Given the description of an element on the screen output the (x, y) to click on. 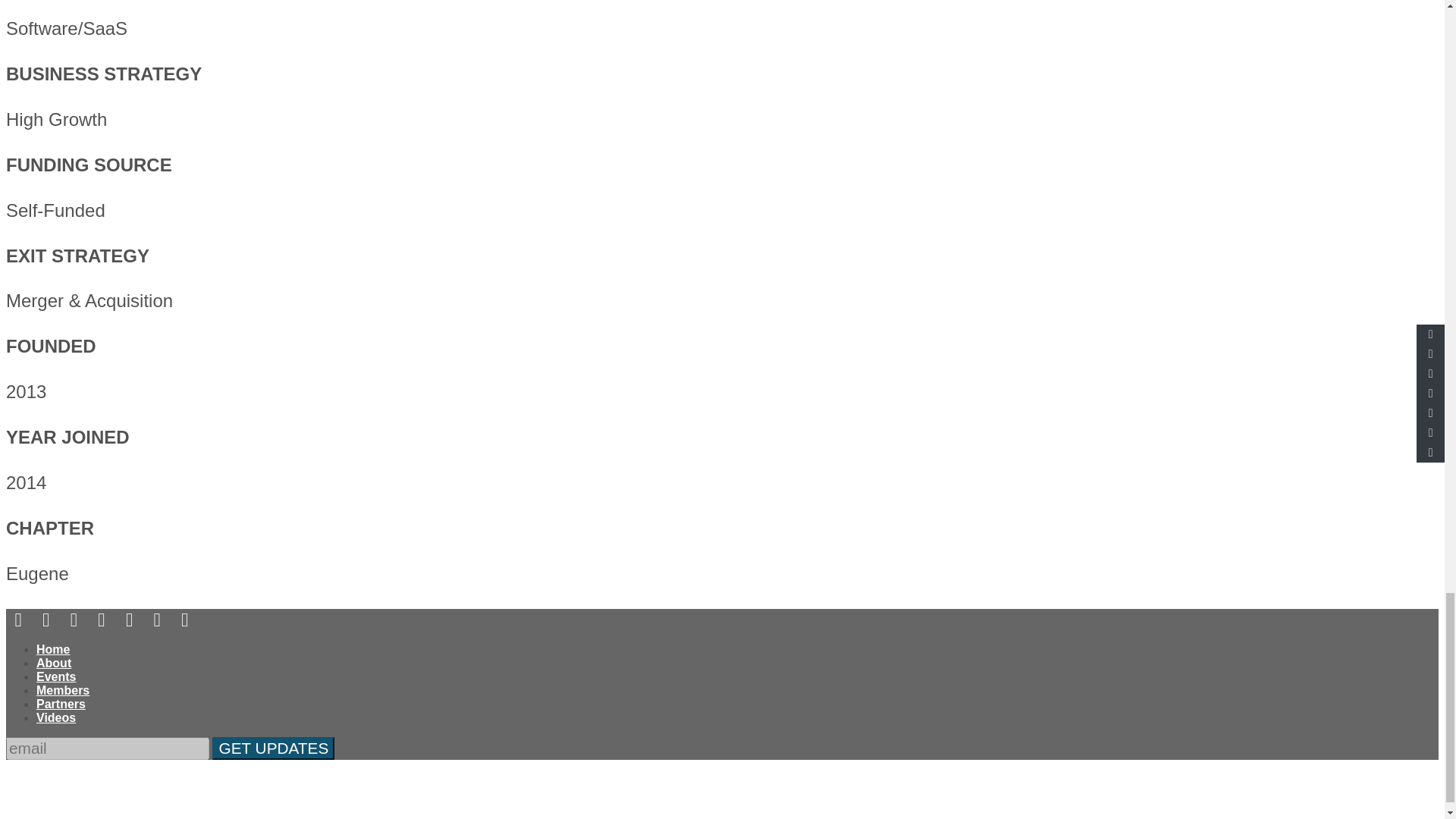
Starve Ups on Facebook (17, 619)
Starve Ups on LinkedIn (100, 619)
Starve Ups on Vimeo (156, 619)
Starve Ups on Twitter (45, 619)
Starve Ups on YouTube (128, 619)
Starve Ups on Instagram (73, 619)
GET UPDATES (273, 748)
